Given the description of an element on the screen output the (x, y) to click on. 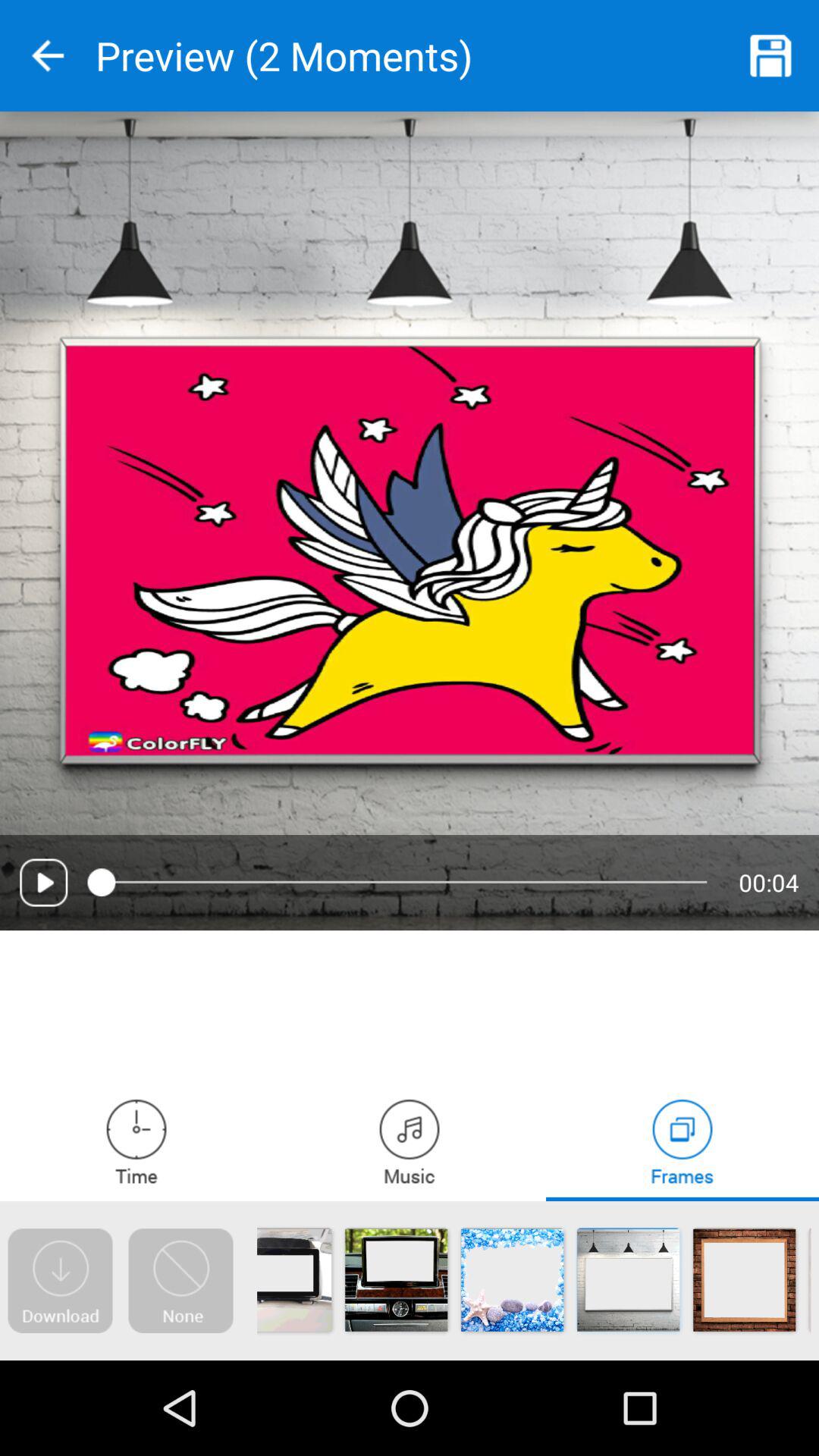
toggle frames option (682, 1141)
